Given the description of an element on the screen output the (x, y) to click on. 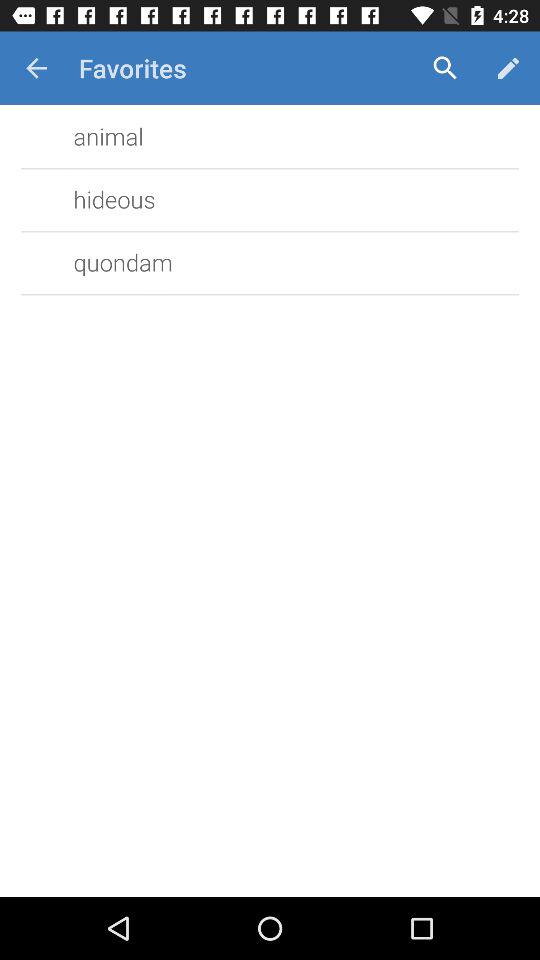
click app next to the favorites app (36, 68)
